Given the description of an element on the screen output the (x, y) to click on. 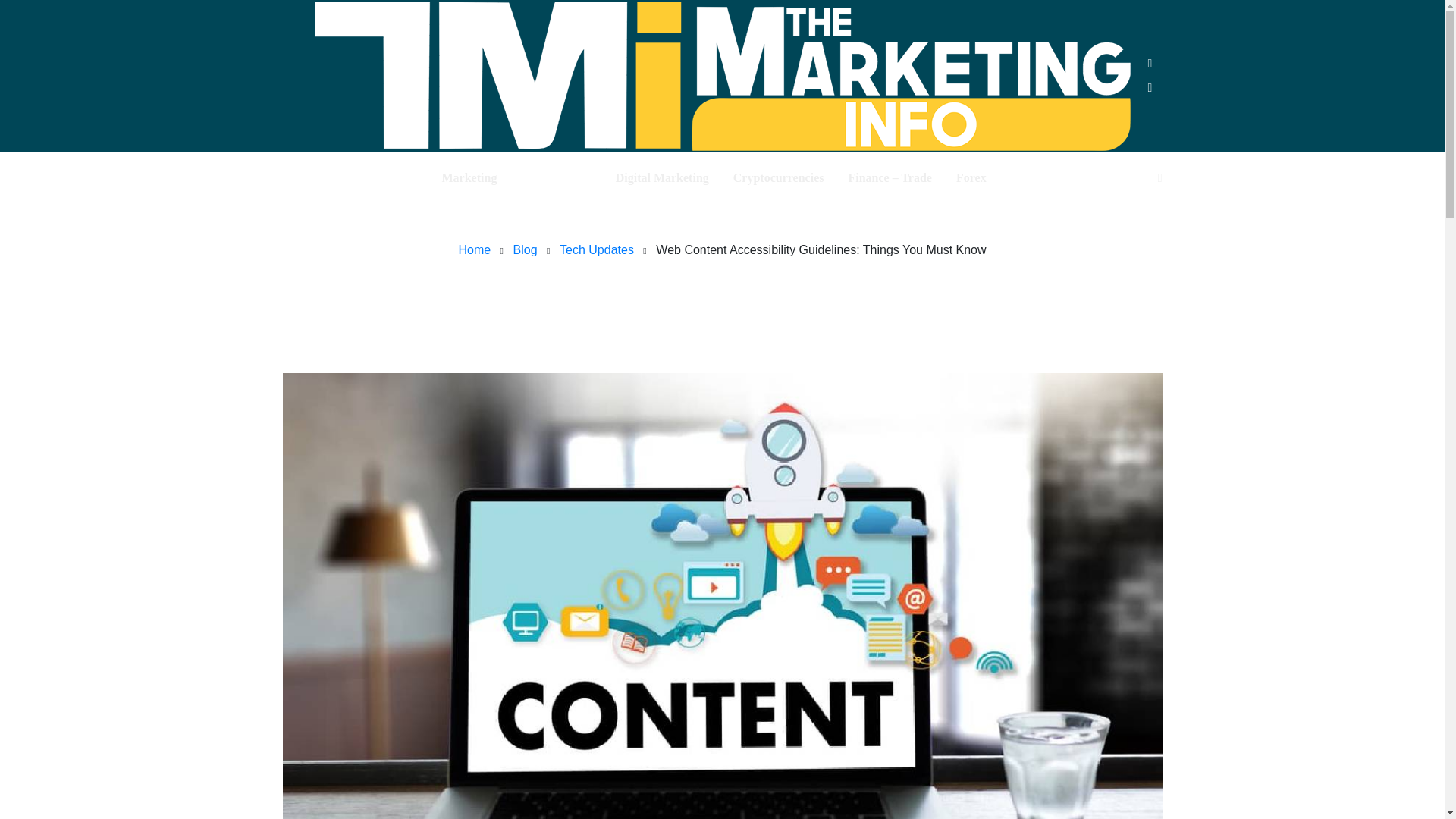
Digital Marketing (662, 177)
Home (474, 249)
Tech Updates (596, 249)
Tech Updates (556, 177)
Tech Updates (722, 284)
Cryptocurrencies (778, 177)
Marketing (468, 177)
Blog (525, 249)
